Given the description of an element on the screen output the (x, y) to click on. 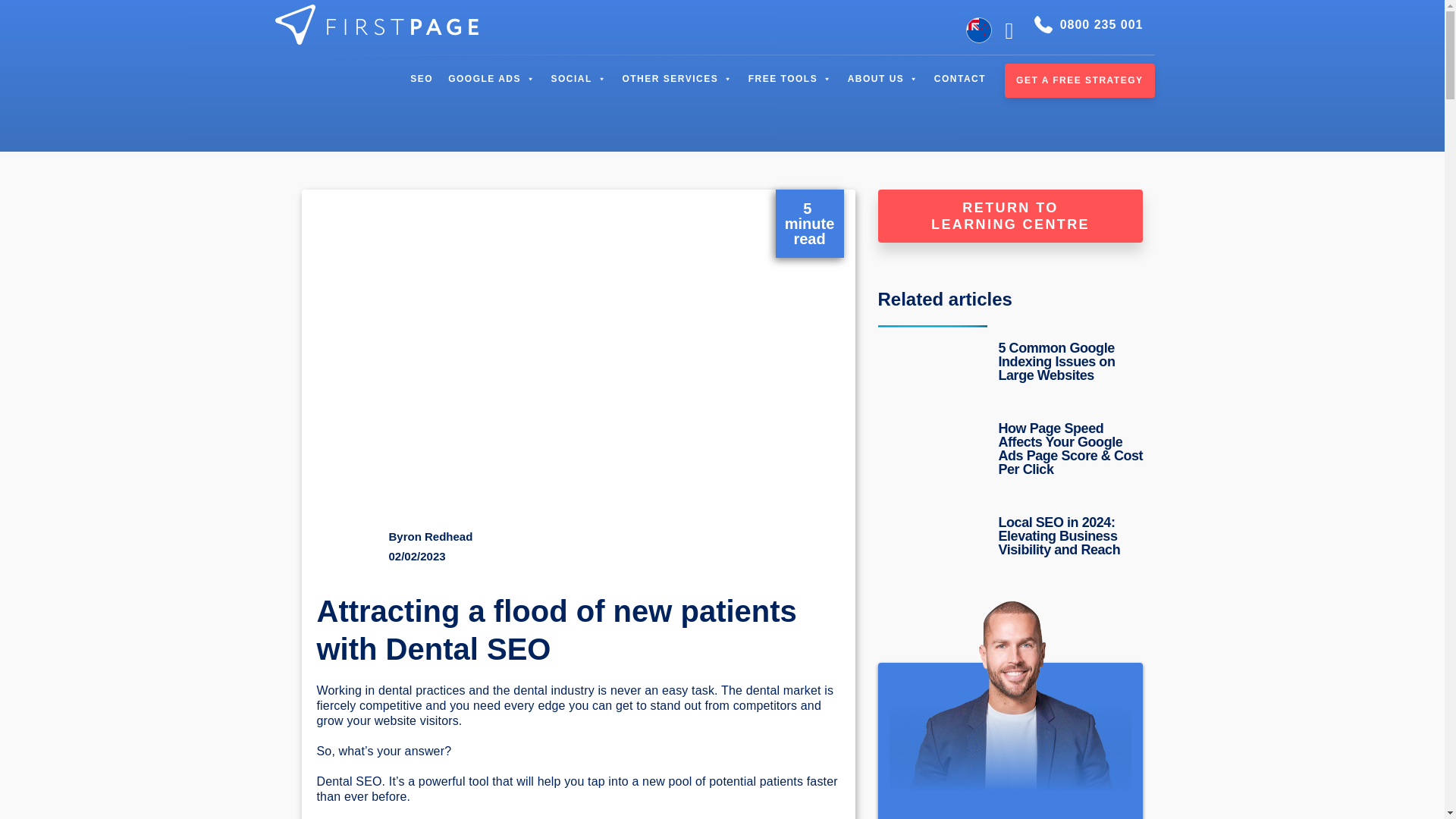
FREE TOOLS (790, 78)
OTHER SERVICES (676, 78)
GOOGLE ADS (492, 78)
SEO (422, 78)
0800 235 001 (1087, 24)
SOCIAL (578, 78)
